Given the description of an element on the screen output the (x, y) to click on. 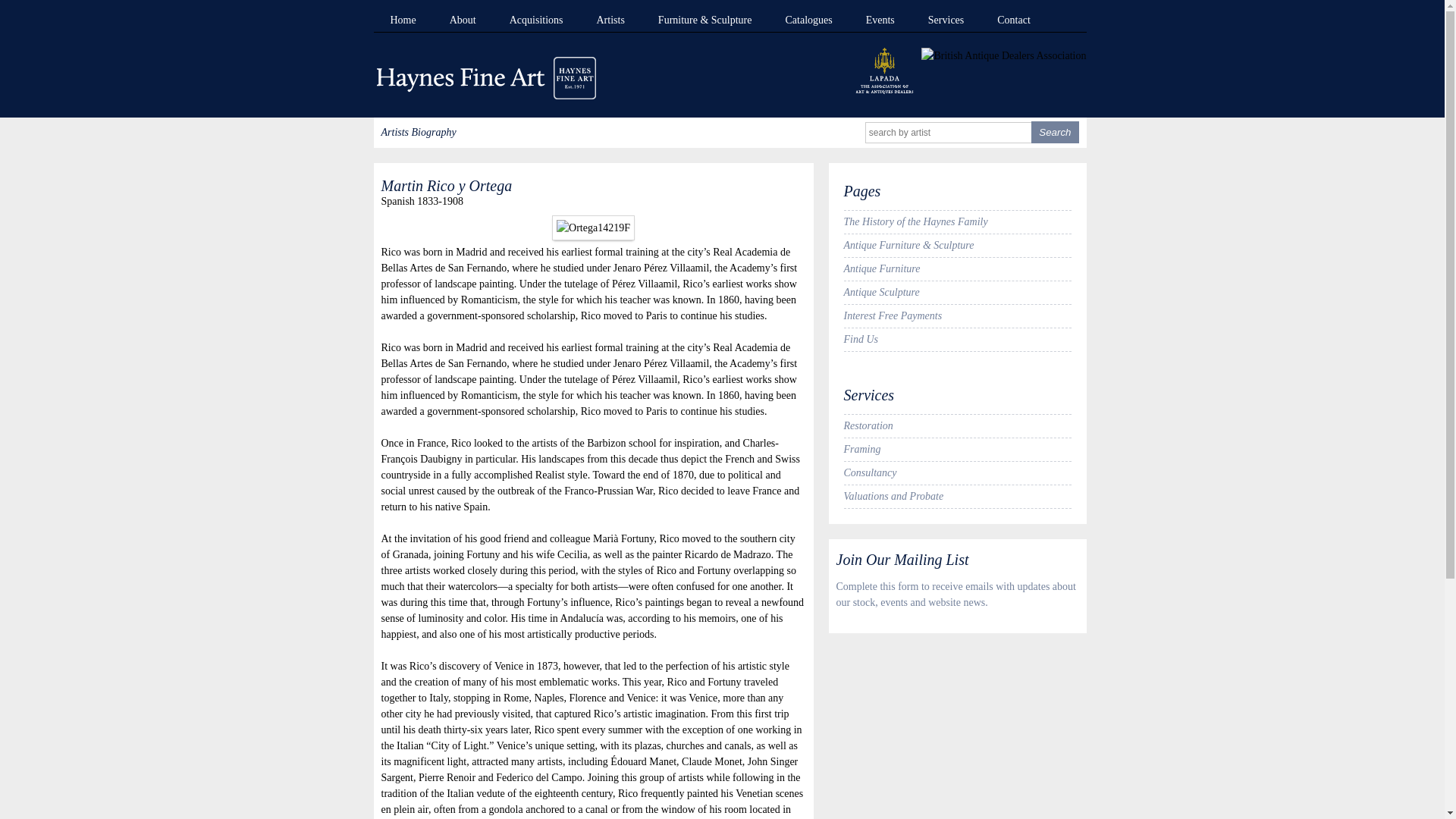
About (454, 20)
Antique Furniture (956, 268)
search by artist (948, 132)
Acquisitions (528, 20)
Home (393, 20)
Contact (1004, 20)
Services (937, 20)
The History of the Haynes Family (956, 221)
Valuations and Probate (956, 496)
Artists (601, 20)
Events (871, 20)
Find Us (956, 339)
Search (1054, 132)
Interest Free Payments (956, 315)
Framing (956, 449)
